Given the description of an element on the screen output the (x, y) to click on. 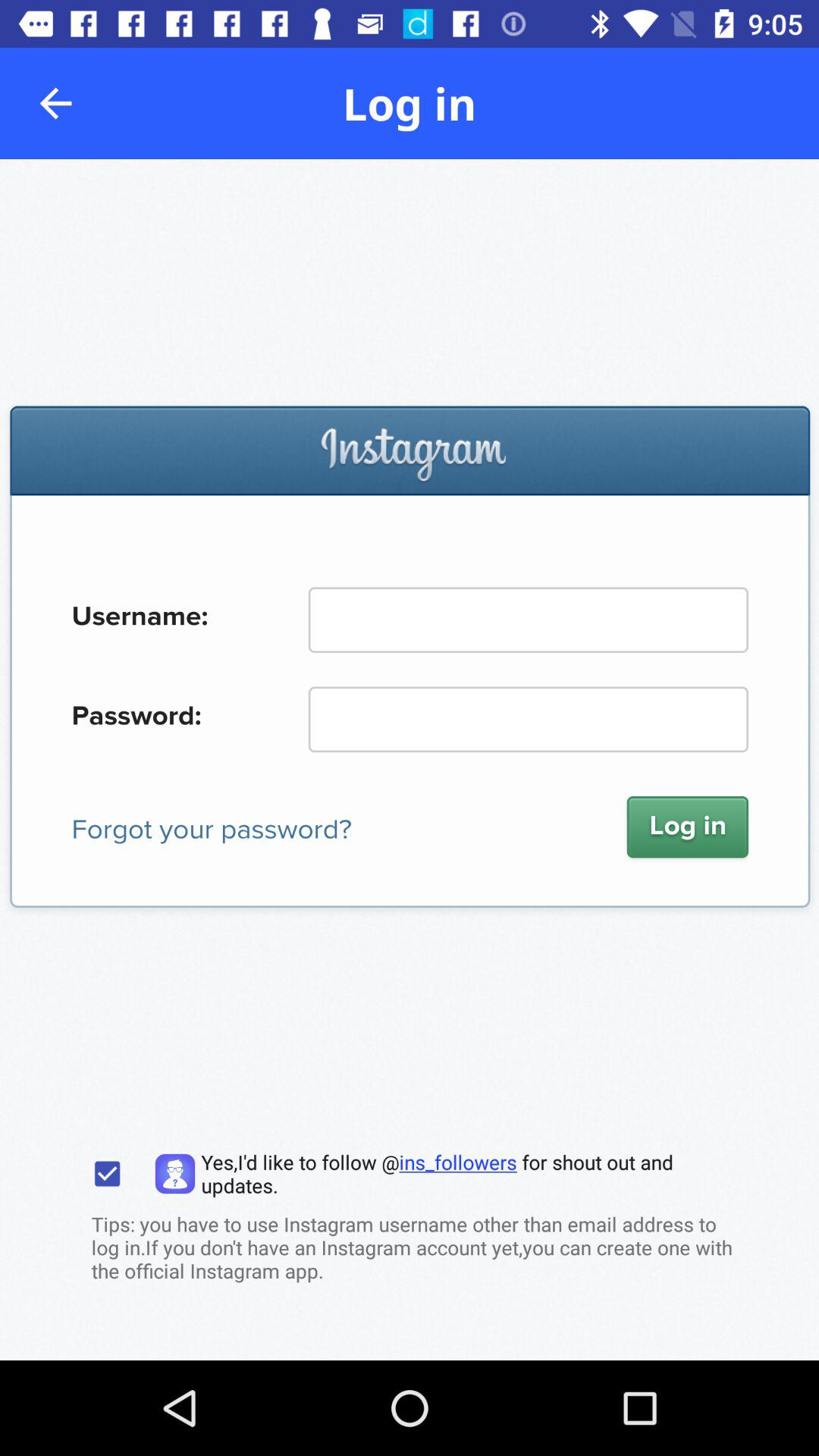
log in (409, 759)
